Given the description of an element on the screen output the (x, y) to click on. 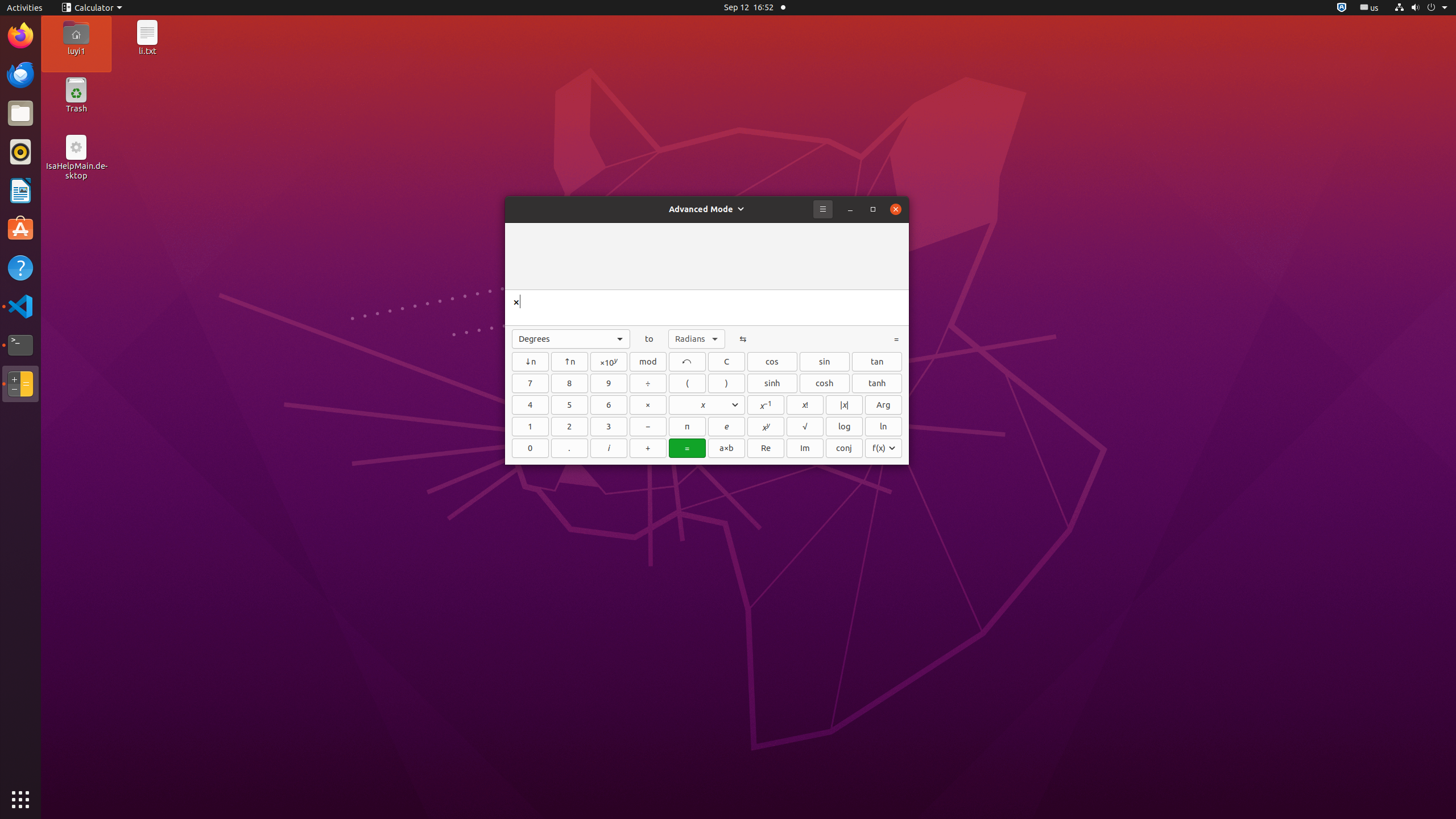
i Element type: push-button (608, 447)
8 Element type: push-button (569, 383)
Factorize Element type: push-button (726, 447)
li.txt Element type: label (146, 50)
